Given the description of an element on the screen output the (x, y) to click on. 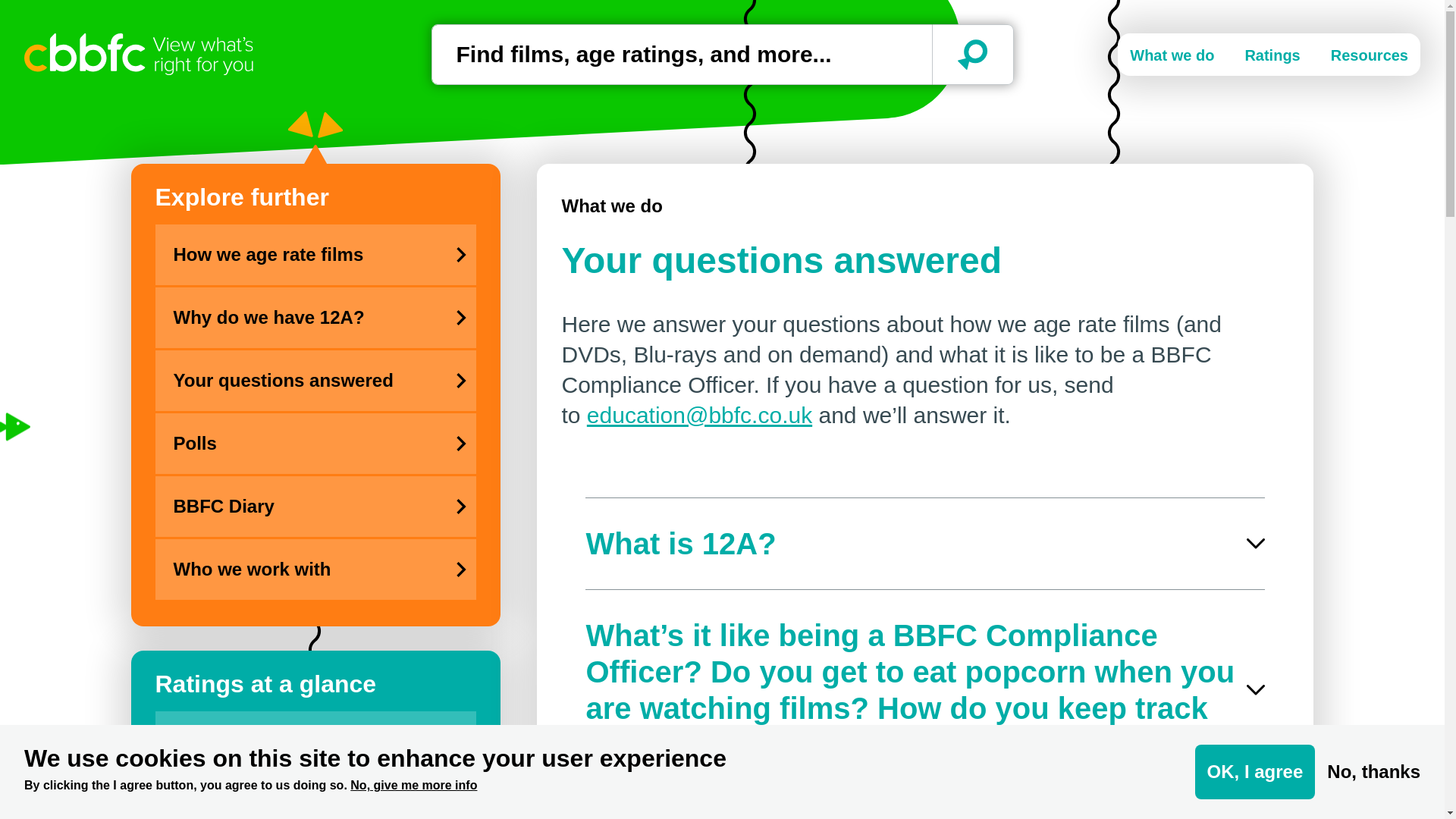
Why do we have 12A? (293, 317)
Parental guidance (293, 805)
Polls (293, 443)
Suitable for all (293, 750)
What we do (611, 205)
Your questions answered (293, 380)
How we age rate films (293, 254)
Resources (1368, 55)
Who we work with (293, 568)
